Given the description of an element on the screen output the (x, y) to click on. 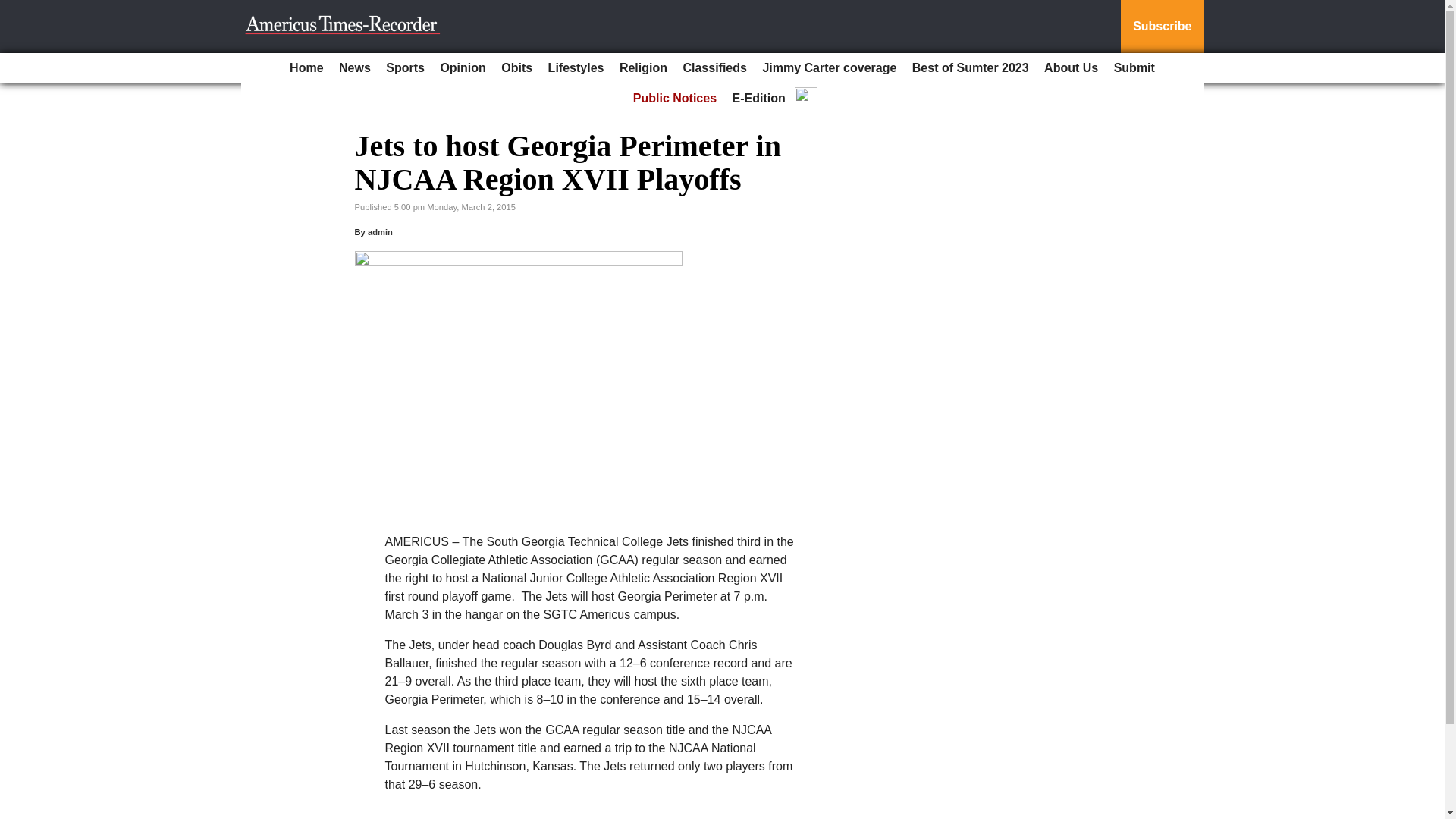
Subscribe (1162, 26)
Classifieds (714, 68)
Home (306, 68)
Obits (516, 68)
Jimmy Carter coverage (828, 68)
Public Notices (674, 98)
About Us (1070, 68)
Sports (405, 68)
Best of Sumter 2023 (970, 68)
admin (380, 231)
Opinion (462, 68)
Submit (1134, 68)
News (355, 68)
E-Edition (759, 98)
Religion (642, 68)
